Given the description of an element on the screen output the (x, y) to click on. 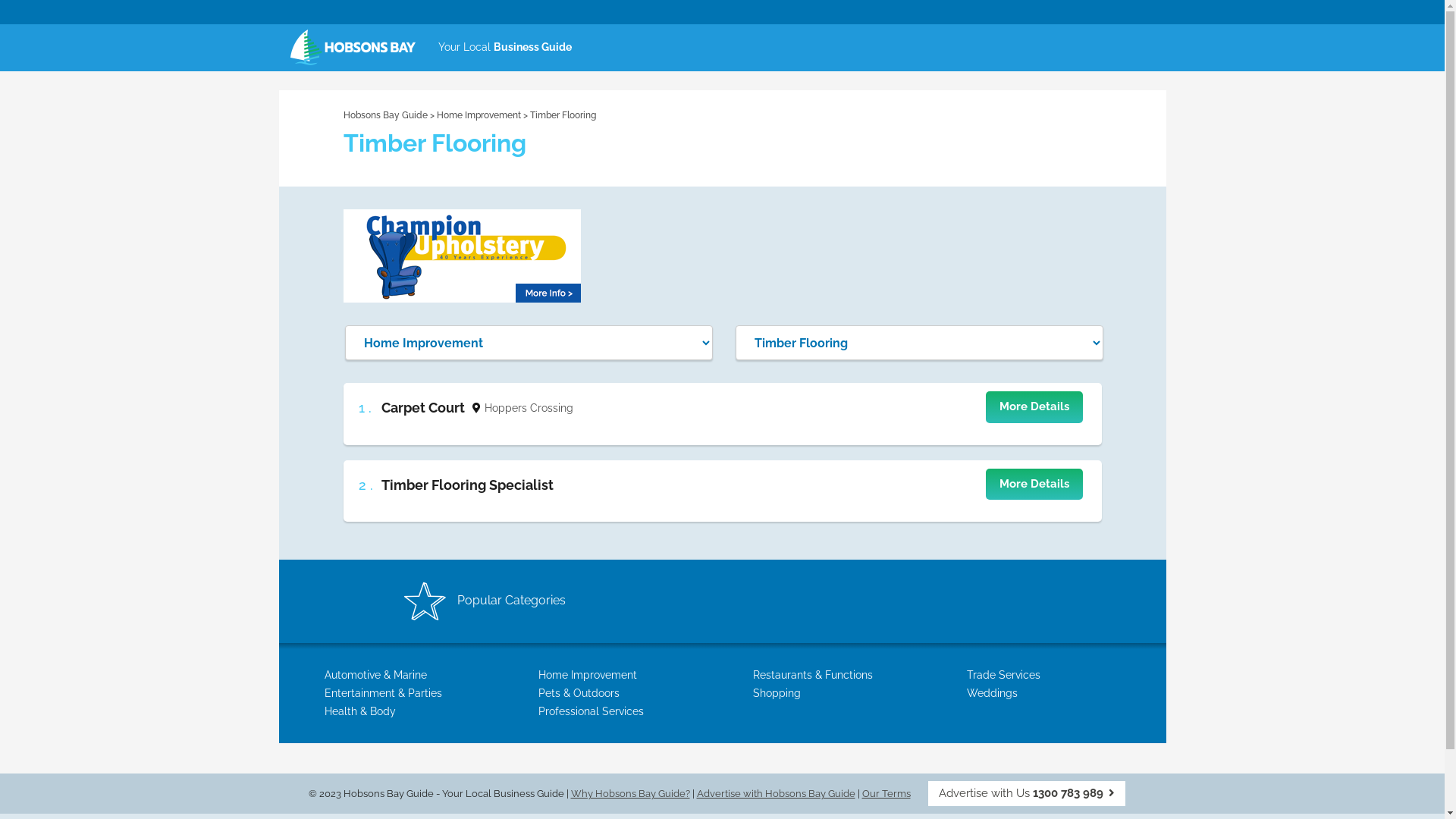
Why Hobsons Bay Guide? Element type: text (629, 793)
Entertainment & Parties Element type: text (383, 693)
Home Improvement Element type: text (587, 674)
Carpet Court Element type: text (422, 407)
Professional Services Element type: text (590, 711)
Trade Services Element type: text (1003, 674)
Timber Flooring Specialist Element type: text (466, 484)
Advertise with Us 1300 783 989 Element type: text (1026, 793)
Restaurants & Functions Element type: text (812, 674)
Pets & Outdoors Element type: text (578, 693)
Weddings Element type: text (991, 693)
Health & Body Element type: text (359, 711)
More Details Element type: text (1033, 483)
Advertise with Hobsons Bay Guide Element type: text (775, 793)
Shopping Element type: text (776, 693)
Automotive & Marine Element type: text (375, 674)
More Details Element type: text (1033, 406)
Hobsons Bay Guide Element type: text (384, 114)
Home Improvement Element type: text (479, 114)
Our Terms Element type: text (885, 793)
